Given the description of an element on the screen output the (x, y) to click on. 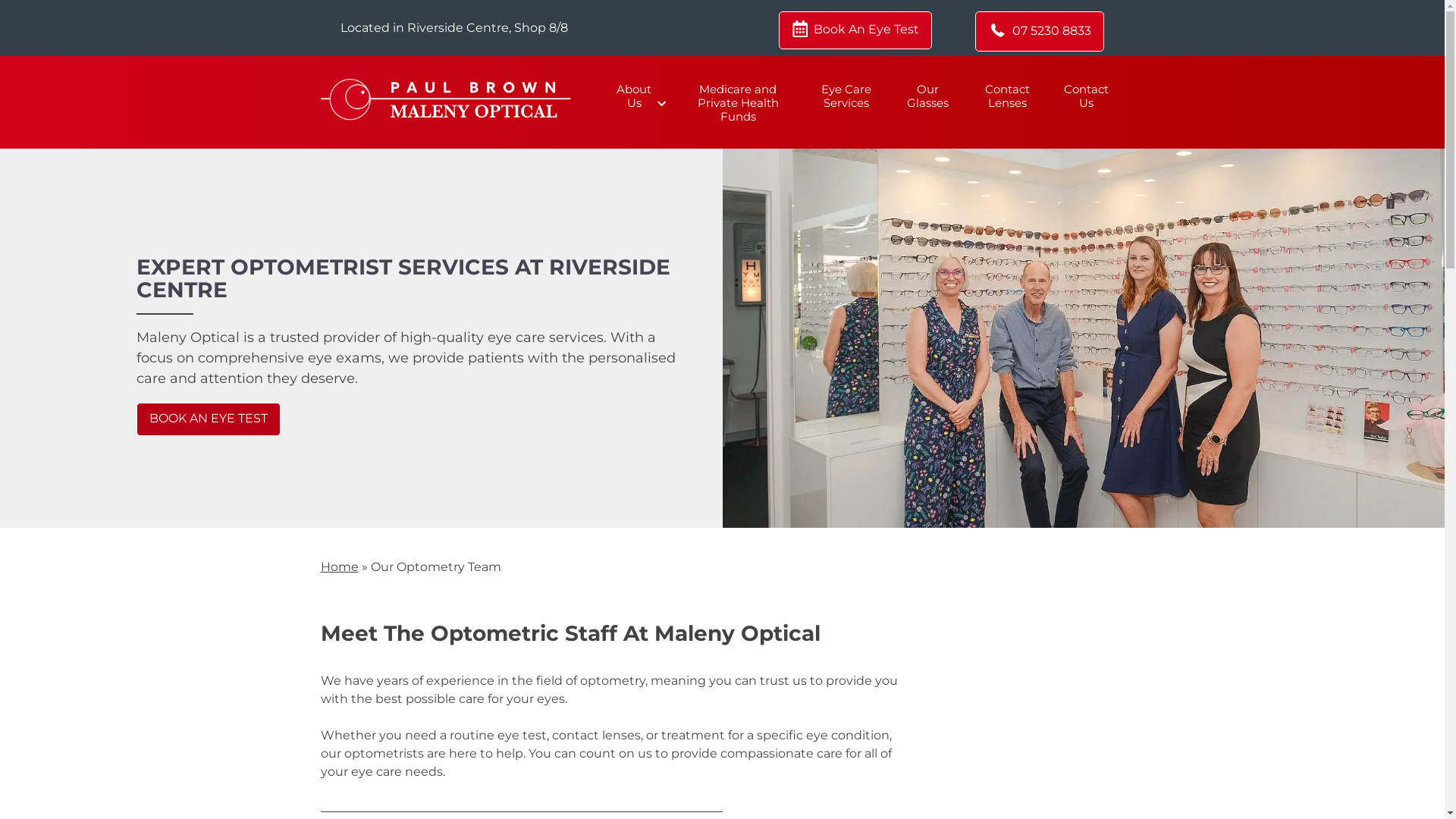
Eye Care Services Element type: text (846, 96)
07 5230 8833 Element type: text (1039, 31)
Contact Lenses Element type: text (1006, 96)
Contact Us Element type: text (1085, 96)
Our Glasses Element type: text (927, 96)
Located in Riverside Centre, Shop 8/8 Element type: text (453, 27)
Book An Eye Test Element type: text (854, 30)
About Us Element type: text (637, 96)
BOOK AN EYE TEST Element type: text (208, 419)
Medicare and Private Health Funds Element type: text (737, 103)
Home Element type: text (338, 566)
